Given the description of an element on the screen output the (x, y) to click on. 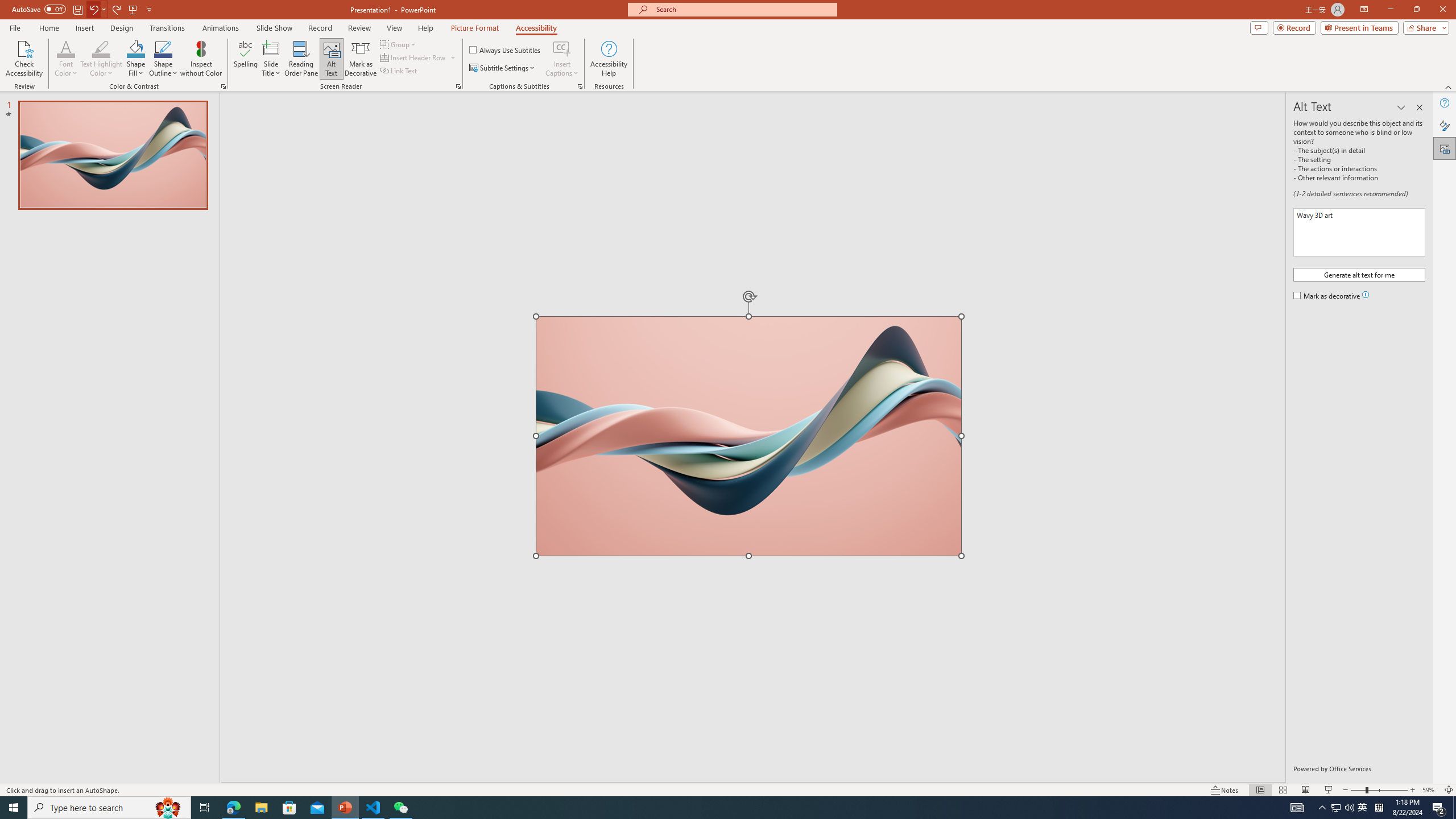
Link Text (399, 69)
Accessibility Help (608, 58)
Subtitle Settings (502, 67)
